Given the description of an element on the screen output the (x, y) to click on. 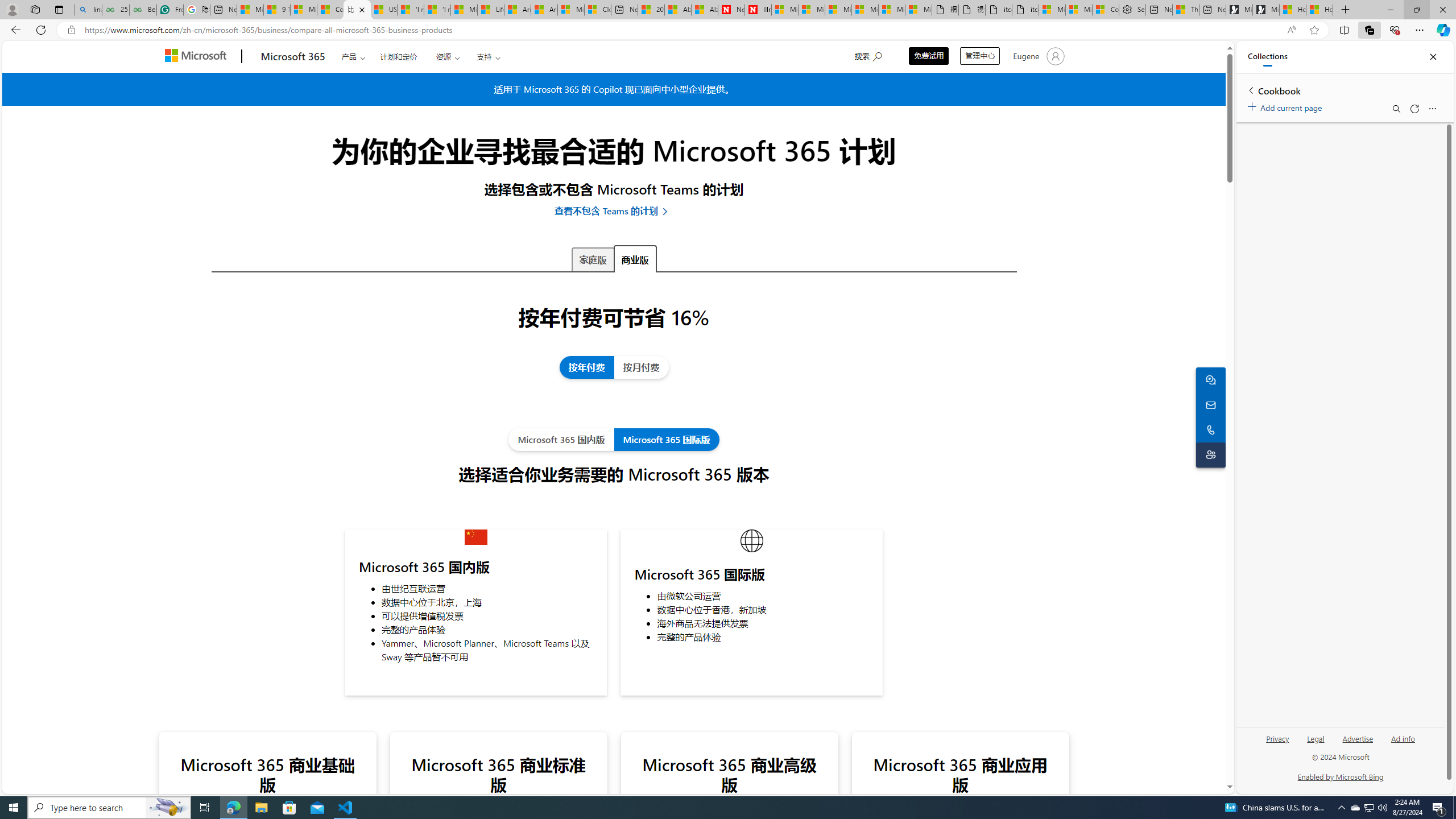
Three Ways To Stop Sweating So Much (1185, 9)
Add current page (1286, 105)
